Given the description of an element on the screen output the (x, y) to click on. 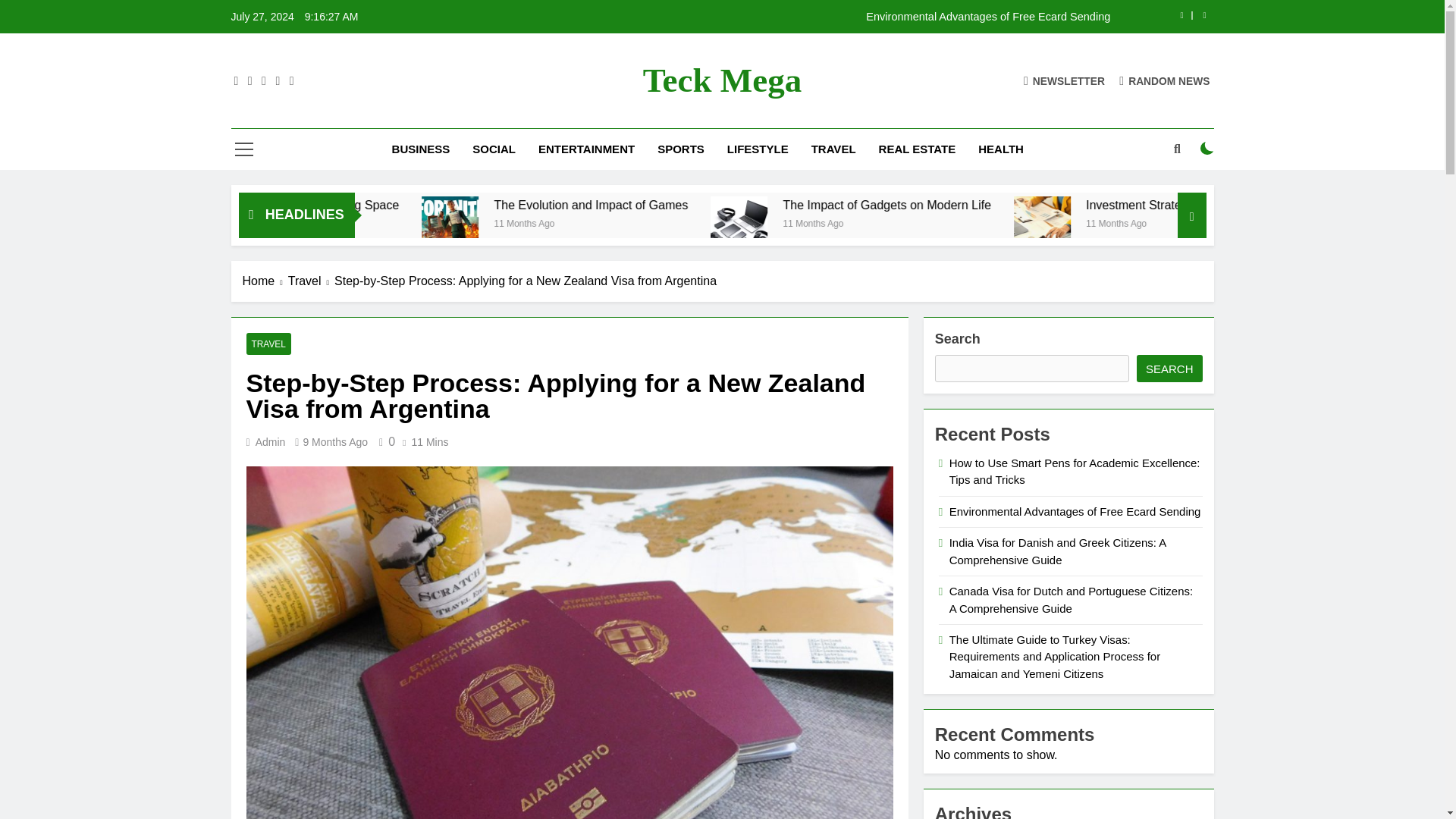
SOCIAL (494, 148)
11 Months Ago (379, 222)
Home Improvement: Enhancing Your Living Space (454, 205)
Environmental Advantages of Free Ecard Sending (817, 16)
TRAVEL (833, 148)
The Impact of Gadgets on Modern Life (1095, 205)
RANDOM NEWS (1164, 80)
REAL ESTATE (917, 148)
Teck Mega (722, 80)
11 Months Ago (736, 222)
BUSINESS (420, 148)
ENTERTAINMENT (586, 148)
The Evolution and Impact of Games (638, 224)
NEWSLETTER (1064, 80)
LIFESTYLE (757, 148)
